Given the description of an element on the screen output the (x, y) to click on. 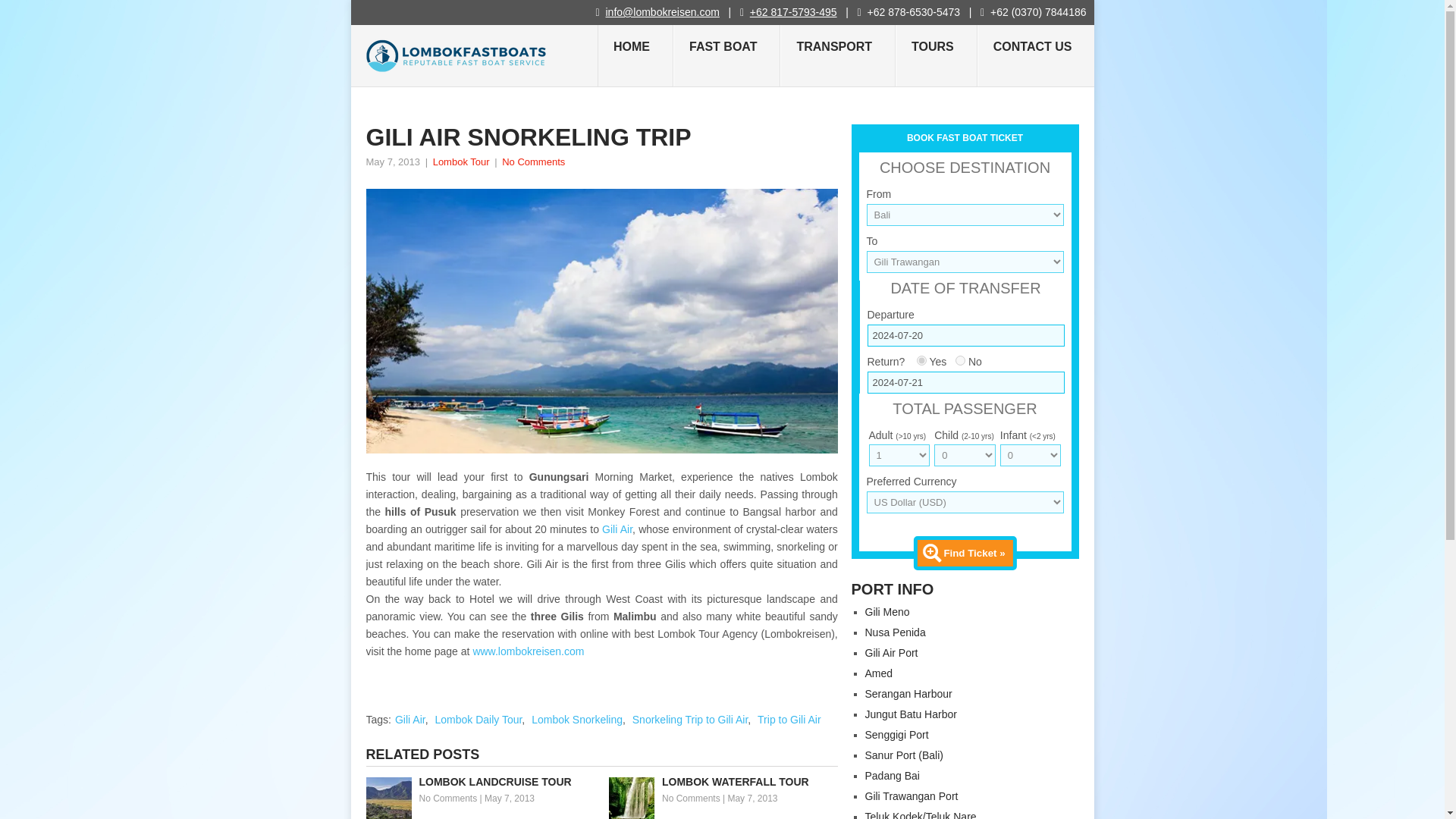
Gili Meno (886, 612)
LOMBOK WATERFALL TOUR (723, 781)
HOME (634, 55)
Lombok Snorkeling (577, 719)
return (921, 360)
TOURS (935, 55)
Gili Trawangan Port (911, 796)
Nusa Penida (894, 632)
Senggigi Port (896, 734)
Gili Air (616, 529)
Contact us via email (662, 11)
Lombok Daily Tour (477, 719)
Jungut Batu Harbor (910, 714)
Gili Air (409, 719)
Lombok Waterfall Tour (723, 781)
